Given the description of an element on the screen output the (x, y) to click on. 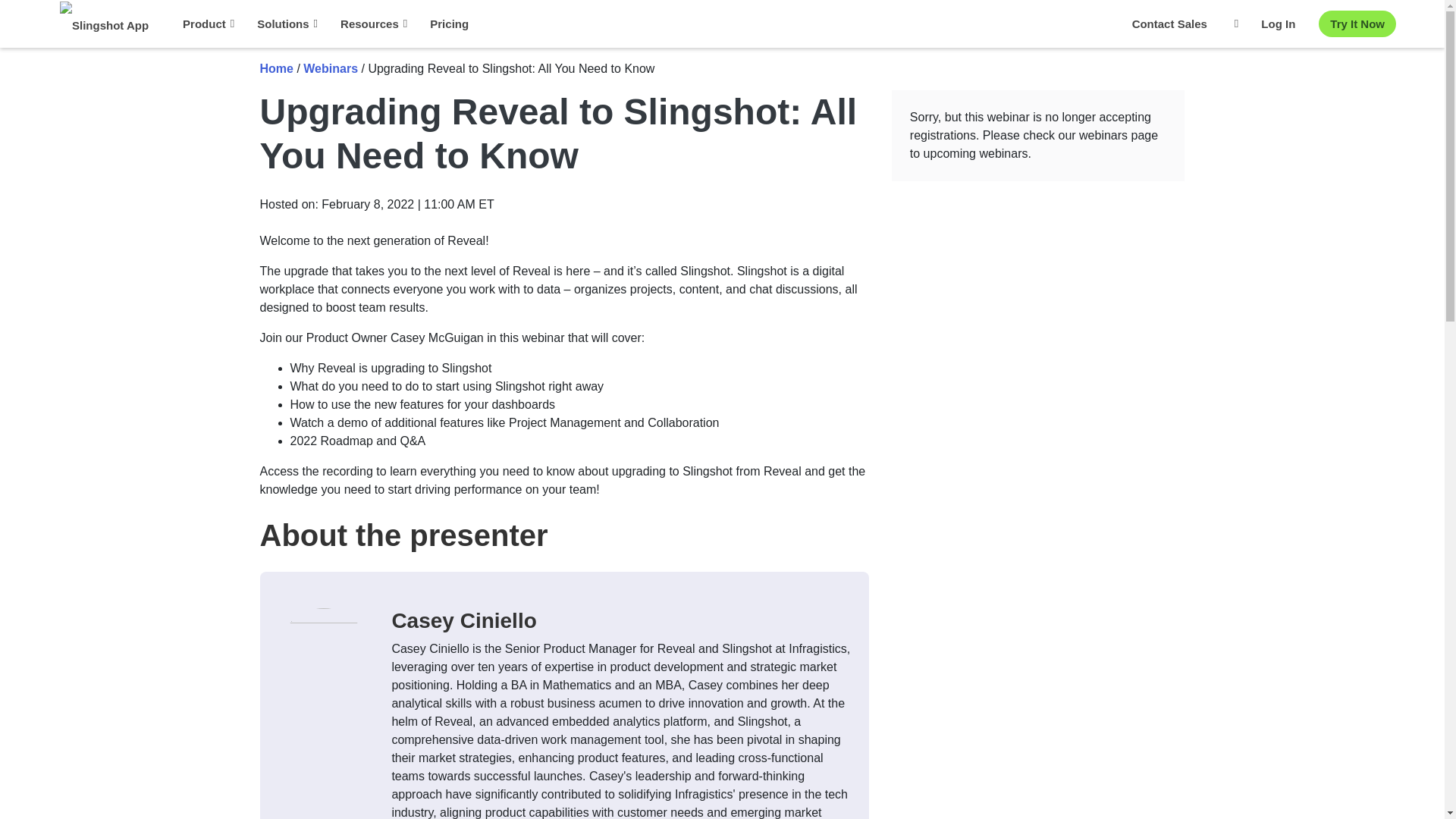
Solutions (287, 23)
Product (208, 23)
